Given the description of an element on the screen output the (x, y) to click on. 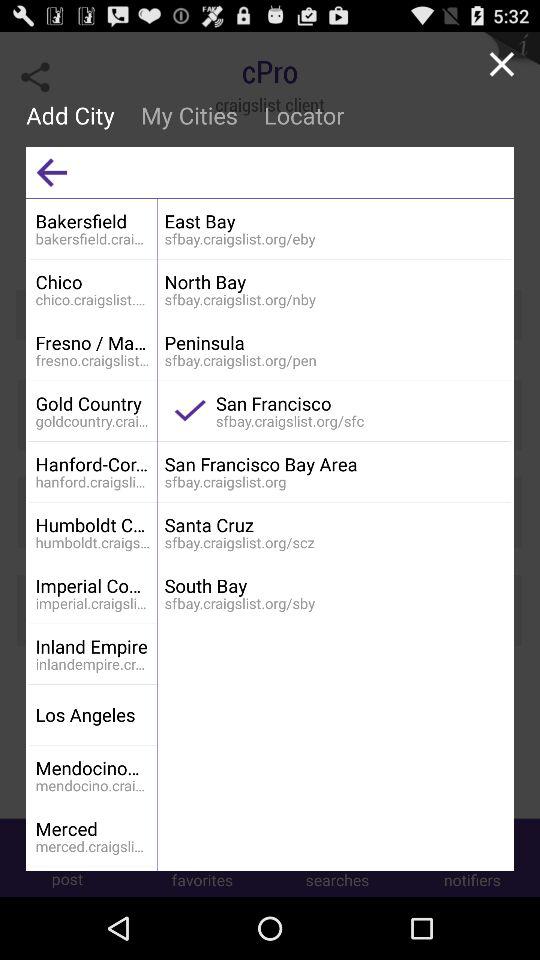
select the inlandempire.craigslist.org app (92, 663)
